Given the description of an element on the screen output the (x, y) to click on. 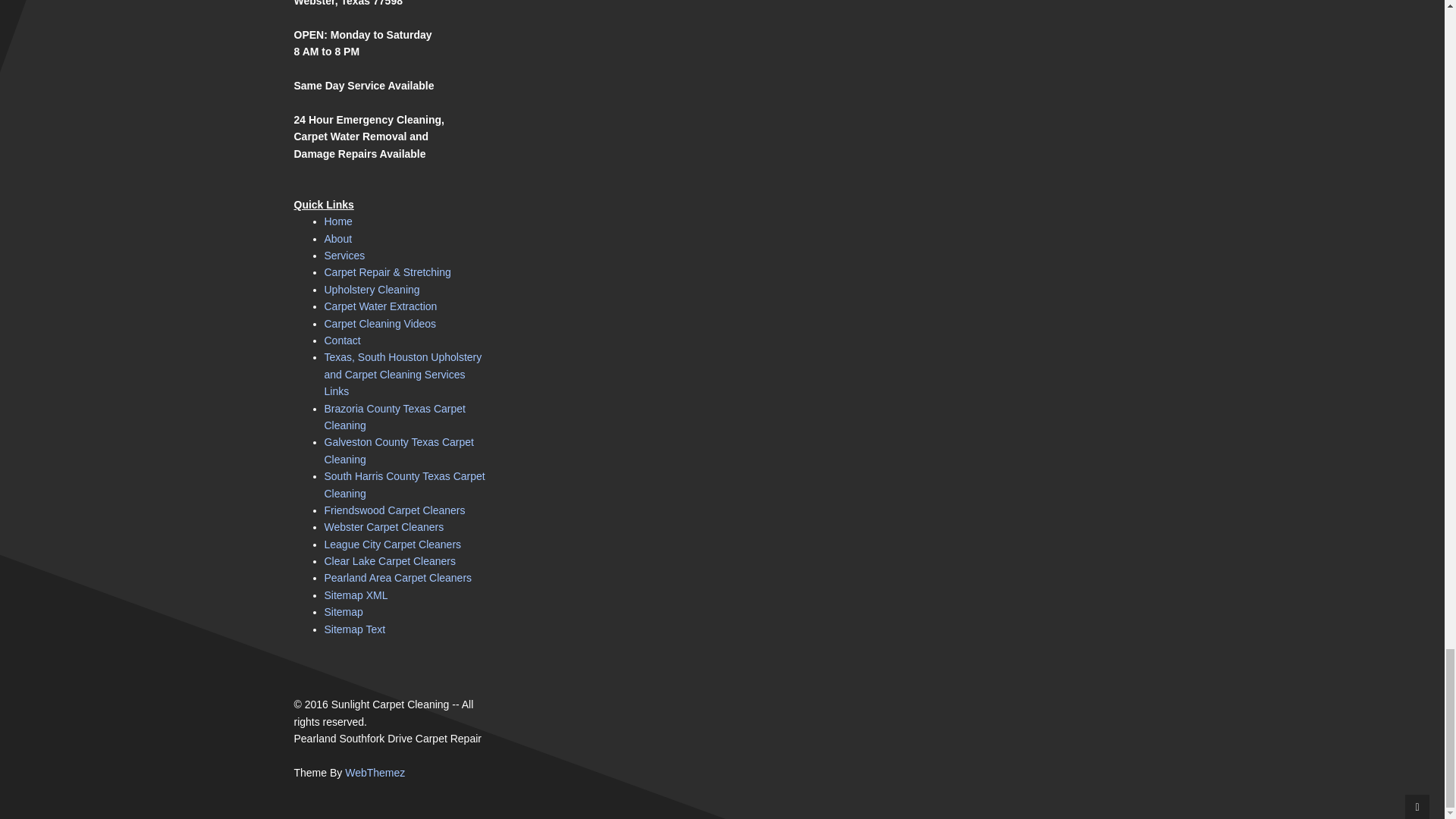
Brazoria County Texas Carpet Cleaning (394, 416)
Carpet Water Extraction (381, 306)
Upholstery Cleaning (372, 289)
Carpet Cleaning Videos (380, 323)
Webster Carpet Cleaners (384, 526)
Home (338, 221)
Galveston County Texas Carpet Cleaning (399, 450)
League City Carpet Cleaners (392, 544)
About (338, 238)
Services (344, 255)
